Given the description of an element on the screen output the (x, y) to click on. 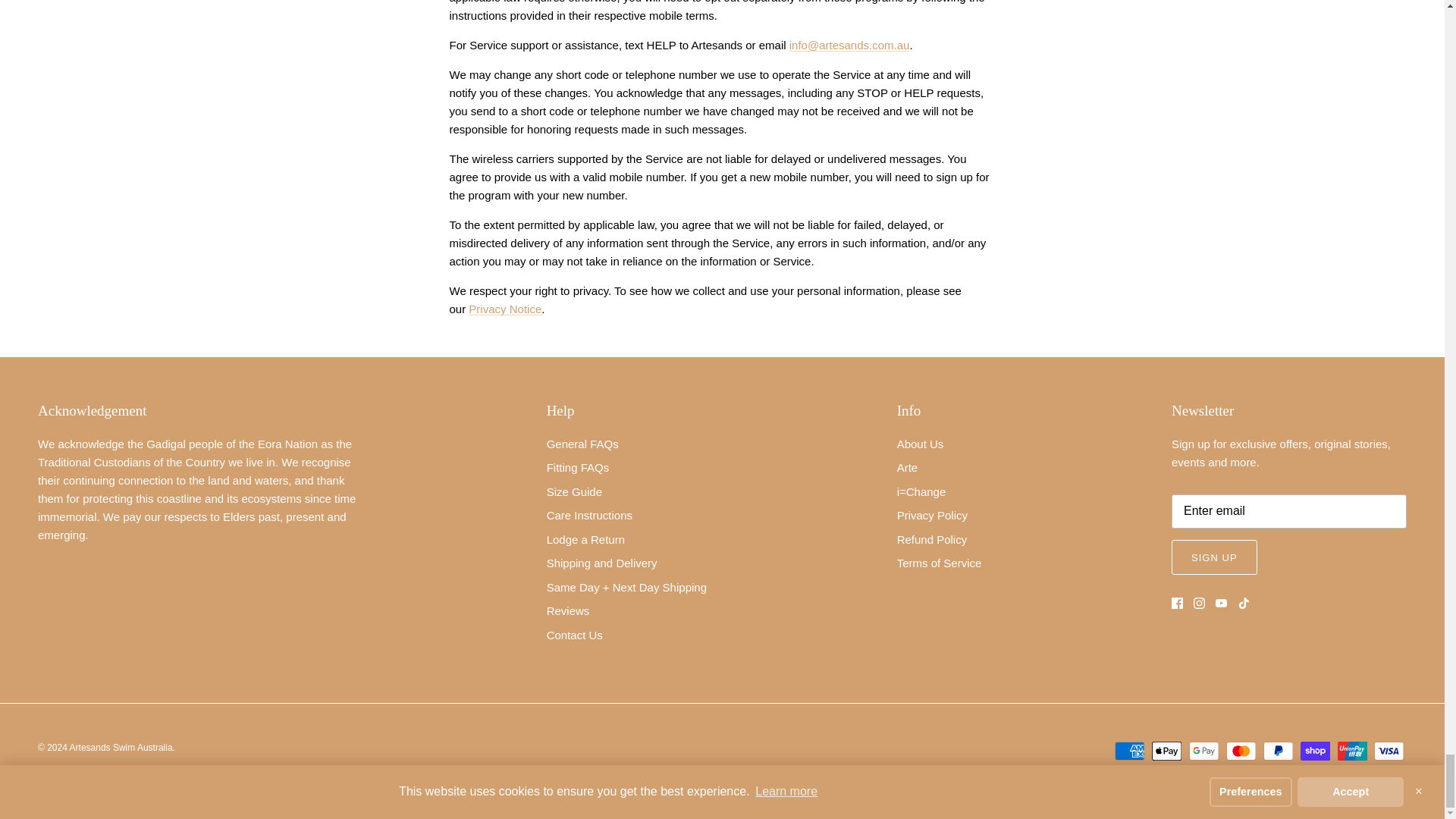
Union Pay (1352, 751)
Mastercard (1240, 751)
Youtube (1221, 603)
Google Pay (1203, 751)
American Express (1129, 751)
Instagram (1199, 603)
PayPal (1277, 751)
Visa (1388, 751)
Facebook (1177, 603)
Shop Pay (1315, 751)
Apple Pay (1166, 751)
